Given the description of an element on the screen output the (x, y) to click on. 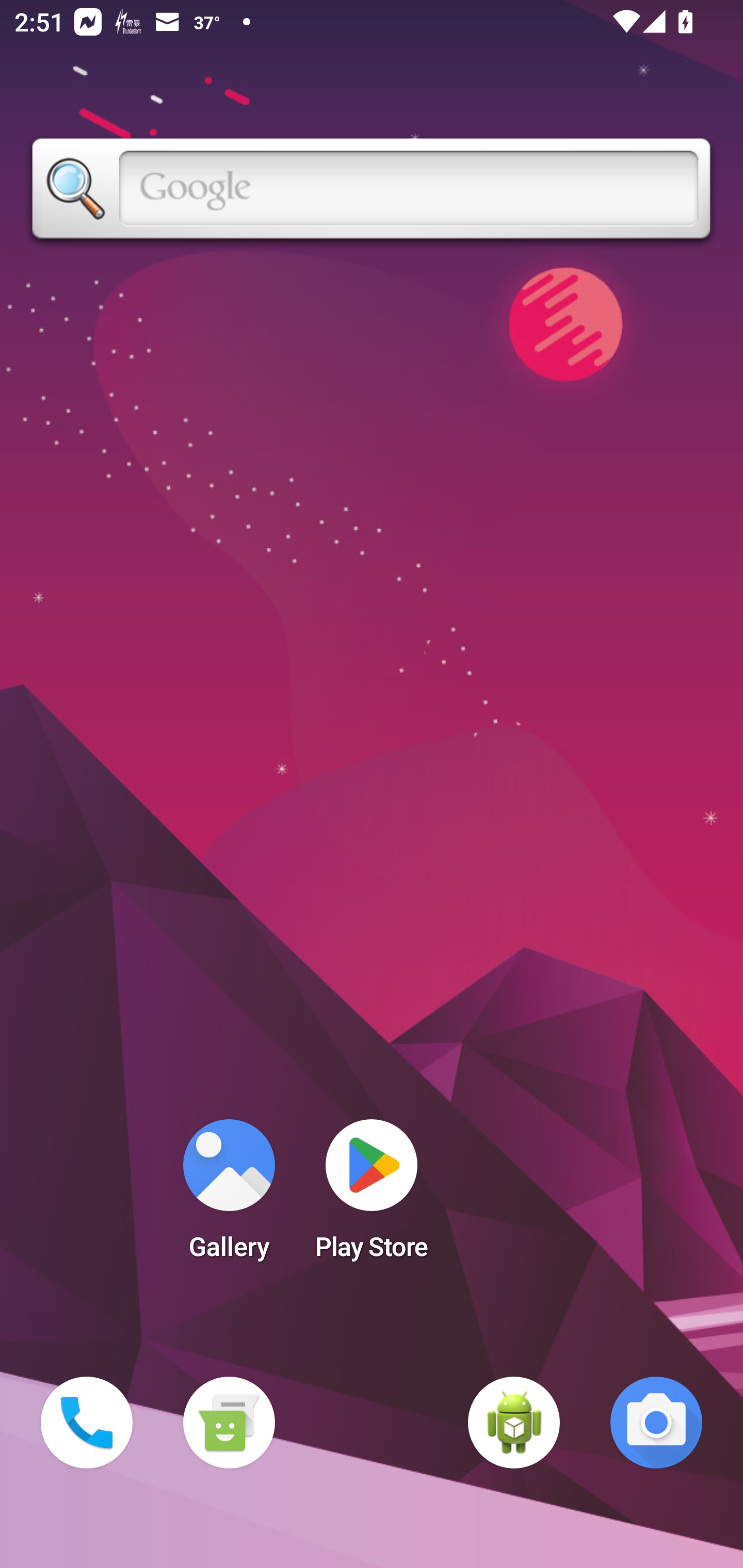
Gallery (228, 1195)
Play Store (371, 1195)
Phone (86, 1422)
Messaging (228, 1422)
WebView Browser Tester (513, 1422)
Camera (656, 1422)
